Given the description of an element on the screen output the (x, y) to click on. 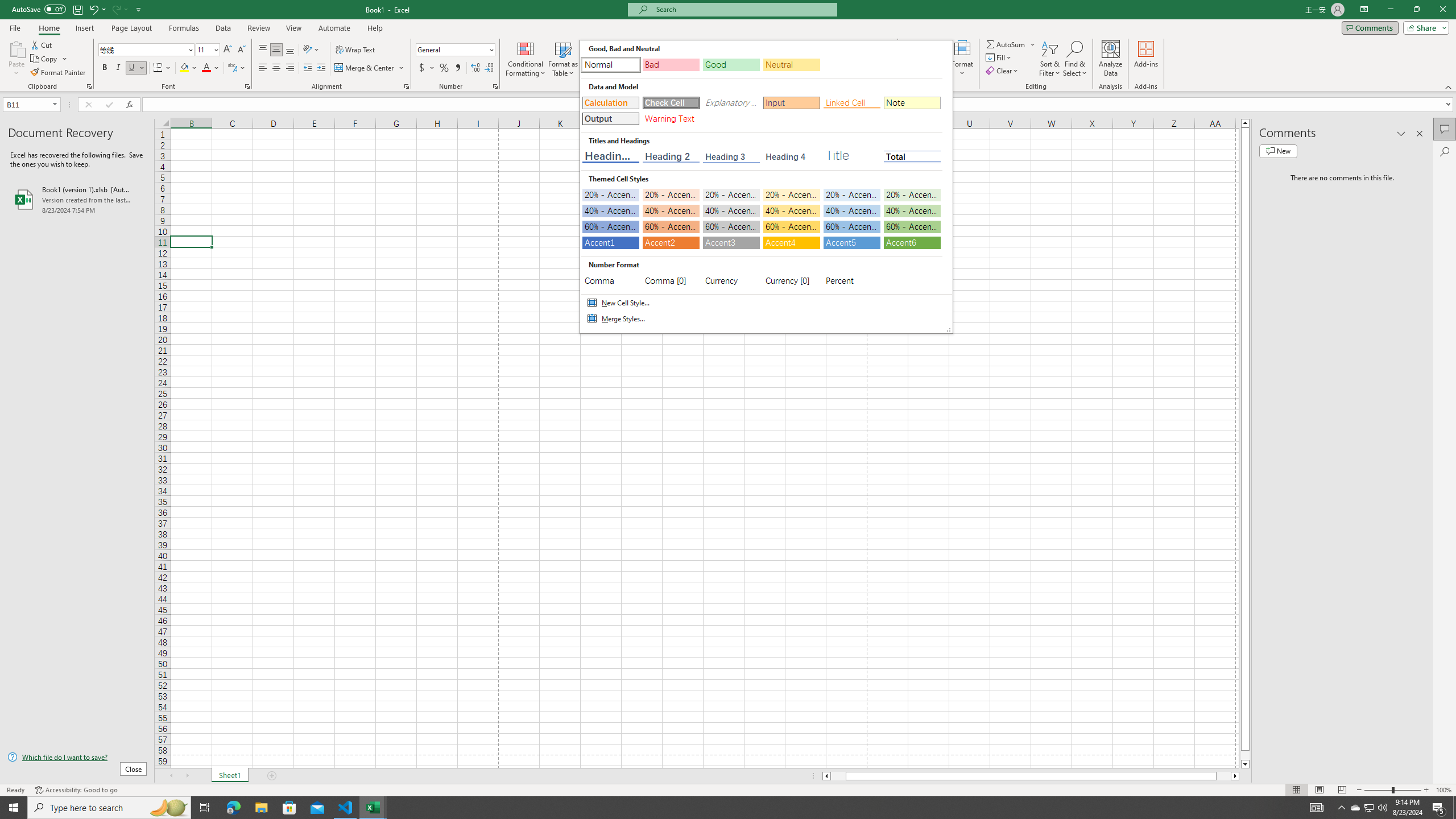
Paste (16, 48)
Bold (104, 67)
Paste (16, 58)
Center (276, 67)
Percent Style (443, 67)
File Explorer (261, 807)
Search highlights icon opens search home window (167, 807)
Class: Net UI Tool Window (766, 187)
